Given the description of an element on the screen output the (x, y) to click on. 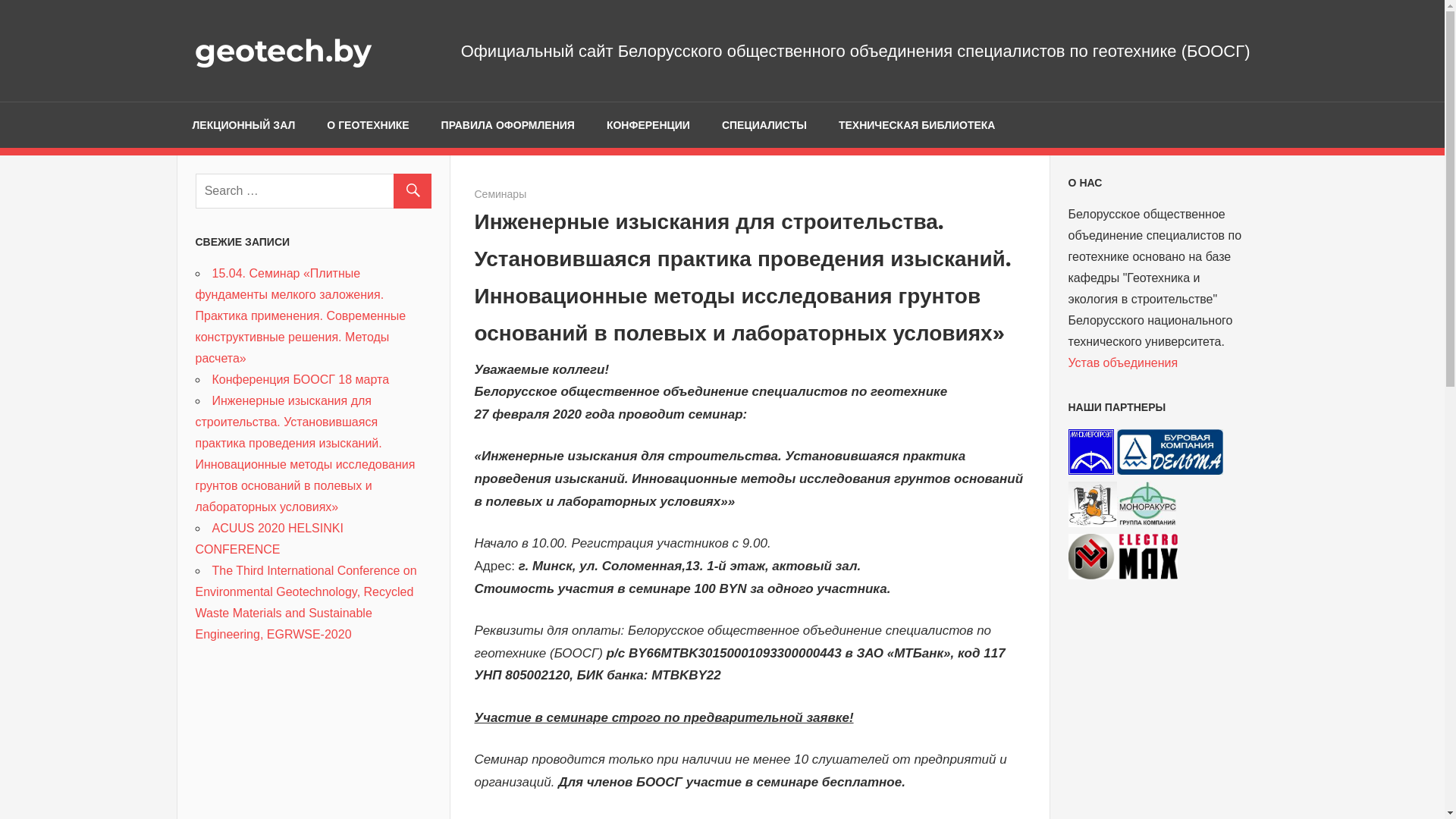
19.02.2020 Element type: text (500, 194)
Search for: Element type: hover (313, 189)
ACUUS 2020 HELSINKI CONFERENCE Element type: text (269, 538)
geotech.by Element type: text (282, 50)
Skip to content Element type: text (0, 0)
